Given the description of an element on the screen output the (x, y) to click on. 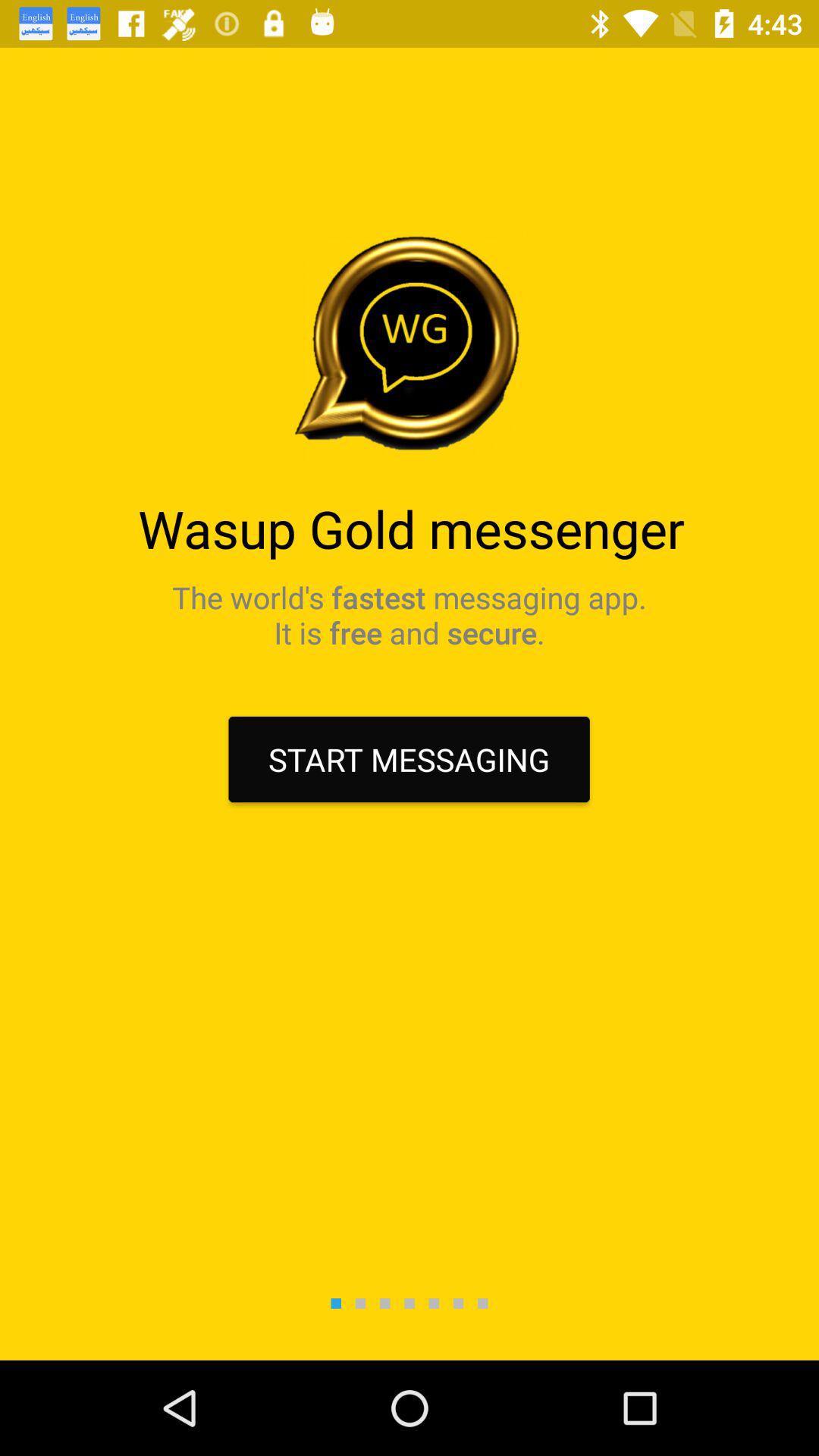
turn off icon below the the world s item (408, 759)
